Given the description of an element on the screen output the (x, y) to click on. 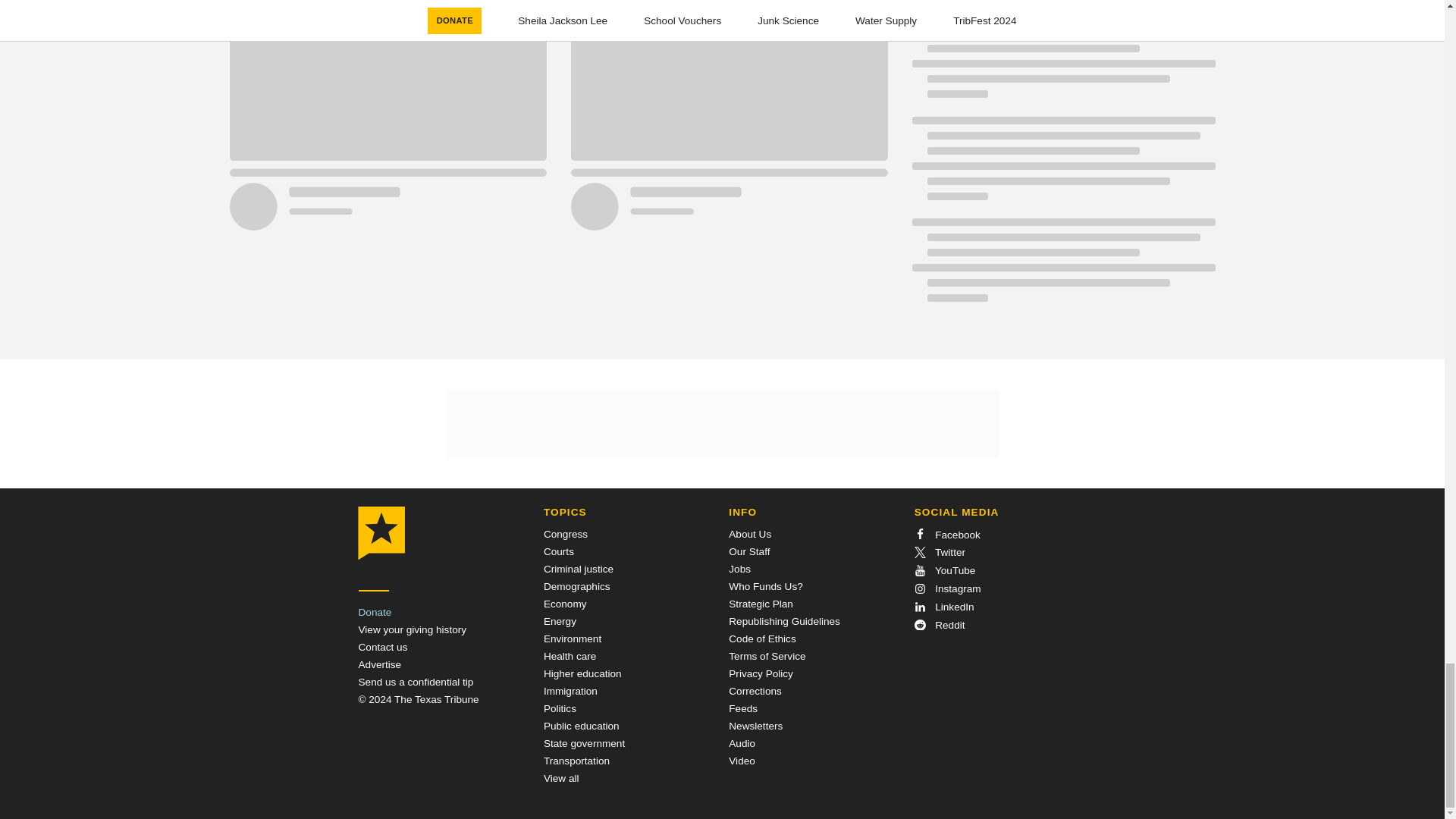
Advertise (379, 664)
Corrections (755, 690)
Feeds (743, 708)
View your giving history (411, 629)
Loading indicator (1062, 267)
Privacy Policy (761, 673)
Loading indicator (1062, 166)
Terms of Service (767, 655)
Newsletters (756, 726)
Video (742, 760)
Strategic Plan (761, 603)
Send a Tip (415, 681)
Who Funds Us? (765, 586)
About Us (750, 533)
Contact us (382, 646)
